Given the description of an element on the screen output the (x, y) to click on. 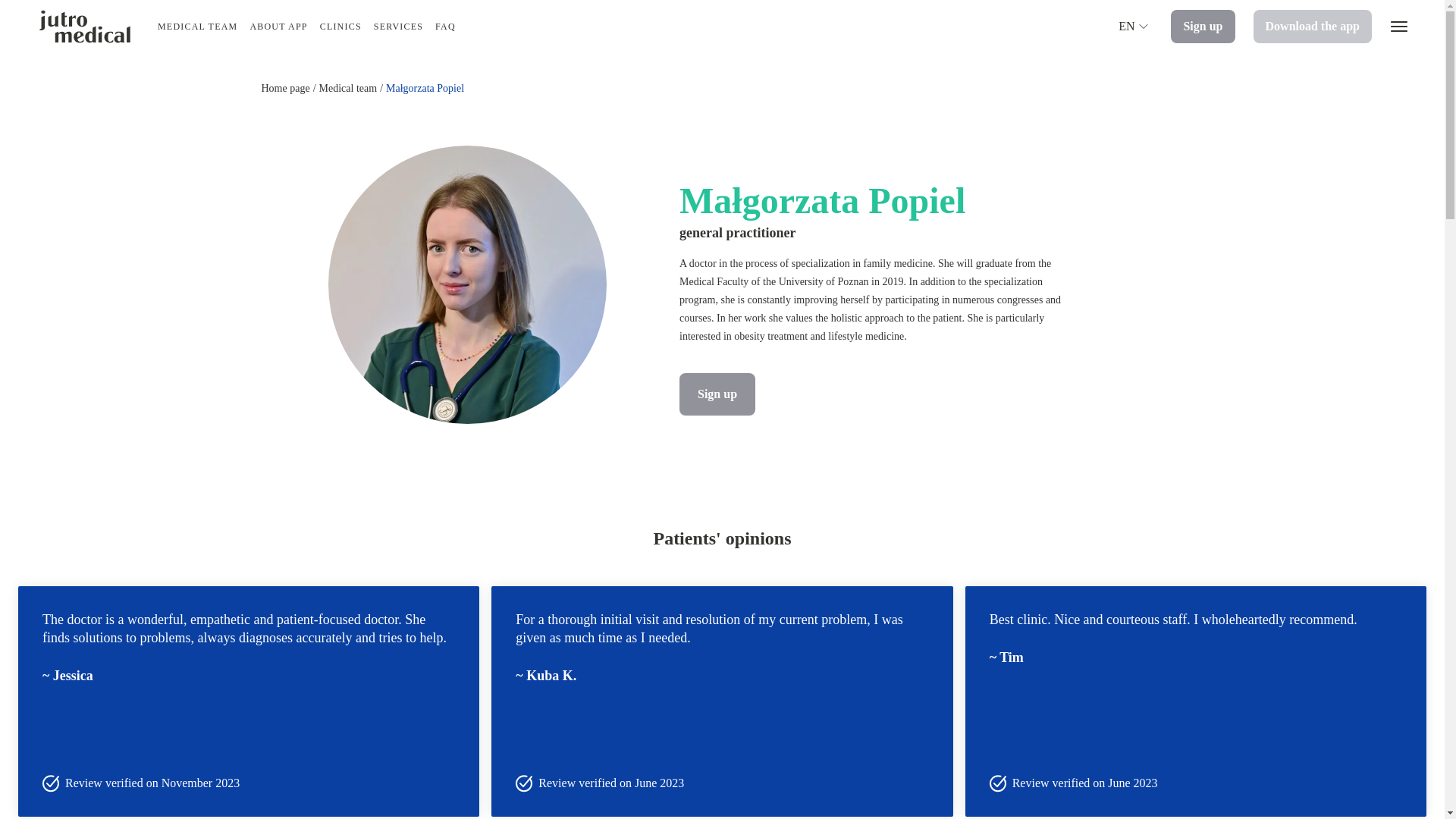
Sign up (1202, 26)
Home page (284, 88)
CLINICS (340, 26)
ABOUT APP (277, 26)
MEDICAL TEAM (197, 26)
SERVICES (398, 26)
Download the app (1312, 26)
Sign up (717, 394)
FAQ (445, 26)
Medical team (347, 88)
